Given the description of an element on the screen output the (x, y) to click on. 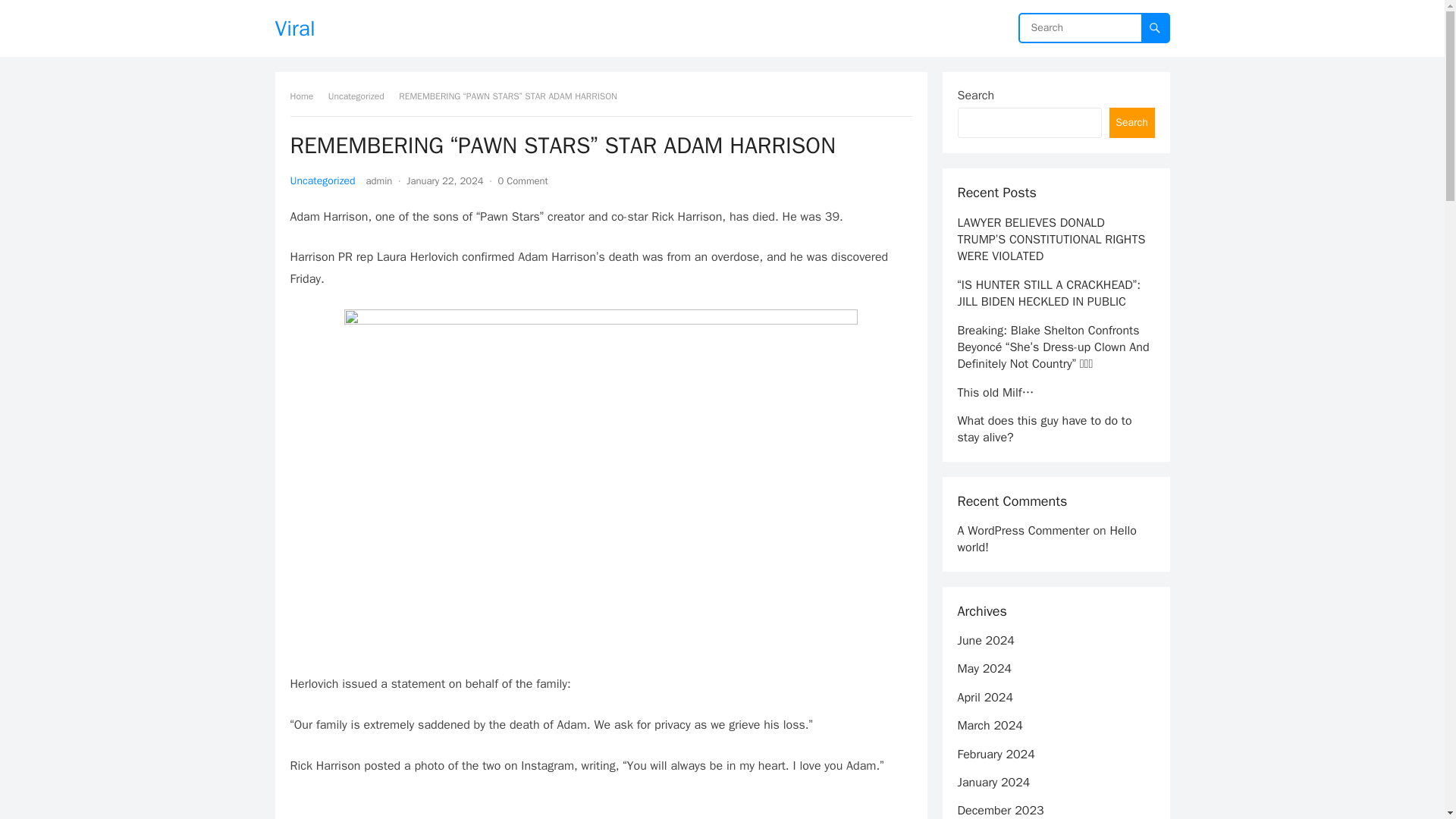
0 Comment (522, 180)
Uncategorized (361, 96)
Uncategorized (322, 180)
Search (1131, 122)
Advertisement (600, 807)
admin (379, 180)
Posts by admin (379, 180)
Home (306, 96)
